Given the description of an element on the screen output the (x, y) to click on. 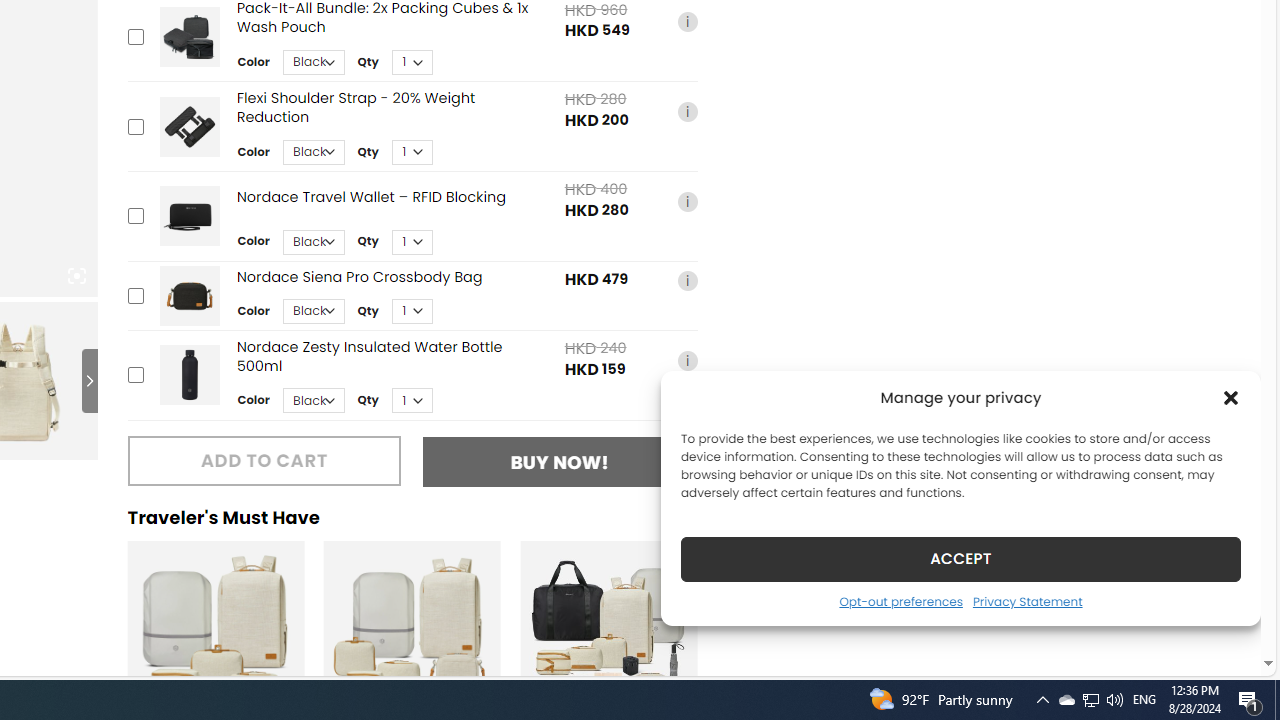
Nordace Zesty Insulated Water Bottle 500ml (189, 375)
ACCEPT (960, 558)
Class: upsell-v2-product-upsell-variable-product-qty-select (411, 400)
Class: flickity-button-icon (718, 662)
i (687, 359)
Opt-out preferences (900, 601)
Flexi Shoulder Strap - 20% Weight Reduction (189, 125)
ADD TO CART (263, 460)
Class: iconic-woothumbs-fullscreen (75, 276)
Siena Pro 15 Essential Set (215, 629)
Siena Pro 15 Premium Set (411, 629)
Nordace Siena Pro Crossbody Bag (189, 295)
Siena Pro 15 Signature Set (608, 629)
